Given the description of an element on the screen output the (x, y) to click on. 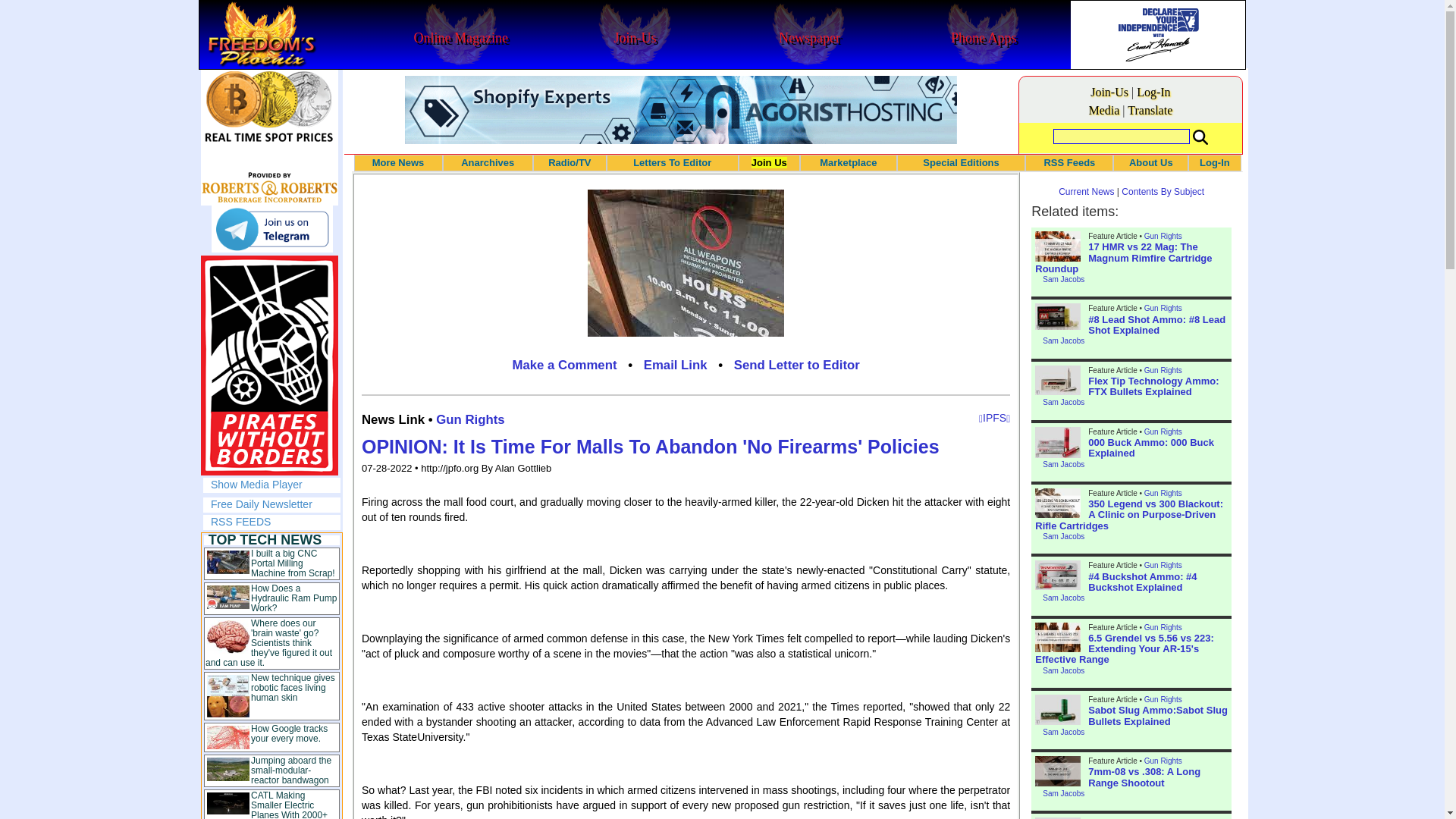
Top Links (271, 675)
A quick description and demo of this ingenious pump. (293, 598)
How Does a Hydraulic Ram Pump Work? (293, 598)
Free Daily Newsletter (262, 503)
Declare Your Independence on Telegram (271, 229)
How Google tracks your every move. (288, 733)
Show Media Player (256, 484)
I built a big CNC Portal Milling Machine from Scrap! (292, 562)
New technique gives robotic faces living human skin (292, 687)
RSS FEEDS (240, 521)
TOP TECH NEWS (264, 539)
